Given the description of an element on the screen output the (x, y) to click on. 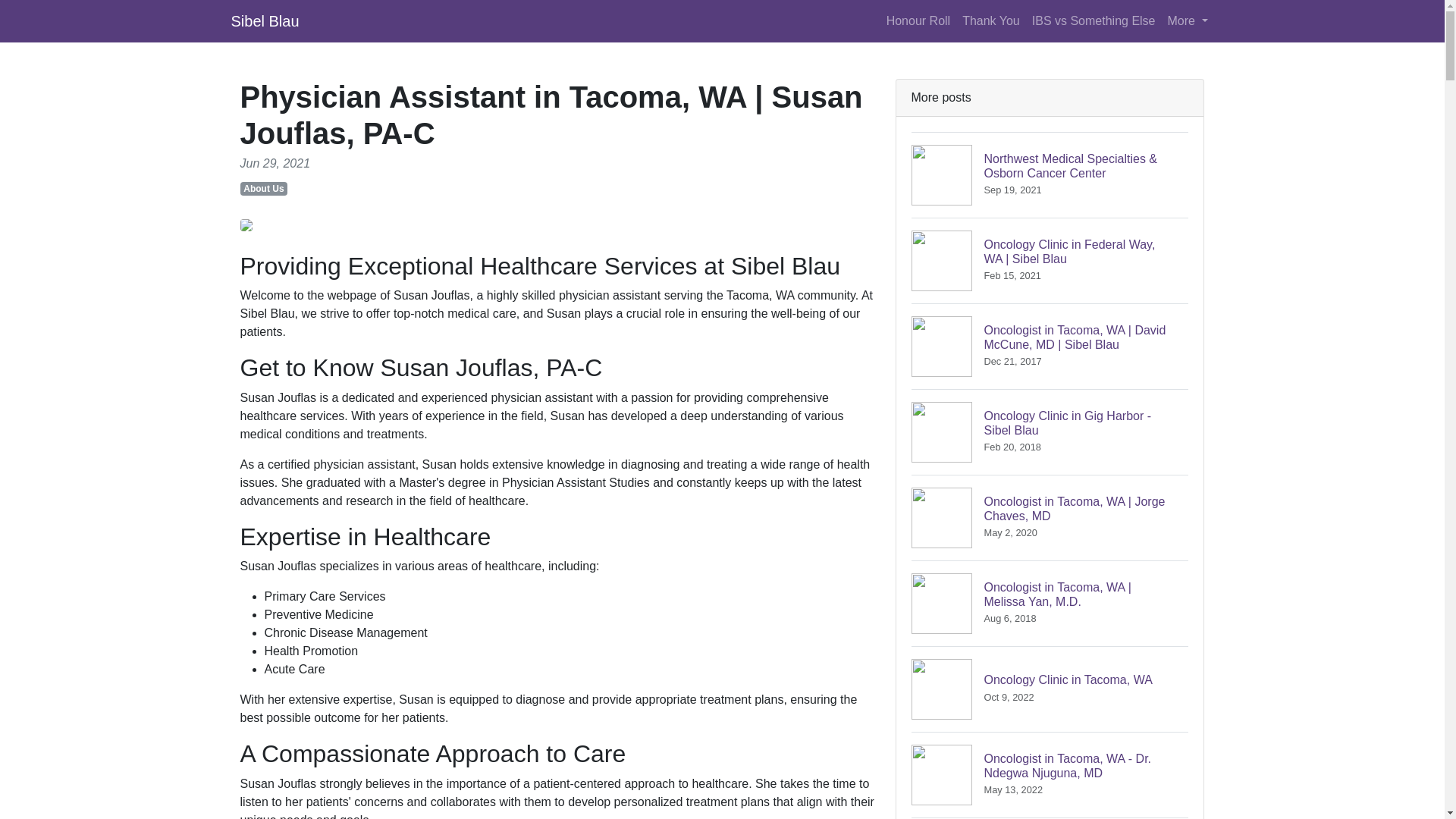
IBS vs Something Else (1093, 20)
Thank You (1050, 432)
Sibel Blau (1050, 689)
About Us (991, 20)
Honour Roll (264, 20)
